Given the description of an element on the screen output the (x, y) to click on. 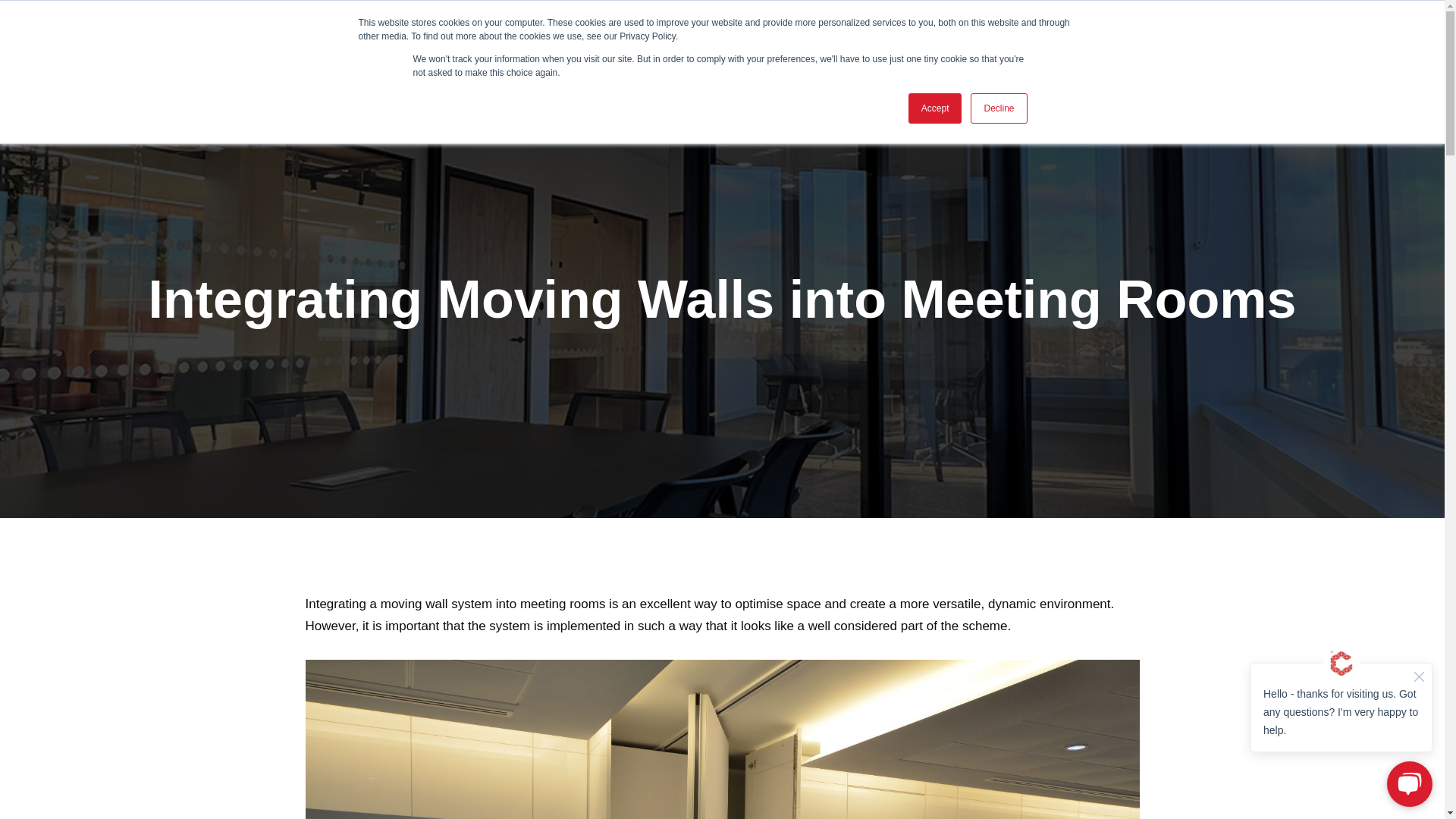
Decline (998, 108)
Skip to content (11, 31)
ABOUT US (613, 33)
PROJECTS (689, 33)
RESOURCES (772, 33)
CONTACT (1093, 33)
Accept (935, 108)
INSPIRATION (1005, 33)
ACOUSTIC SOLUTIONS (893, 33)
